Given the description of an element on the screen output the (x, y) to click on. 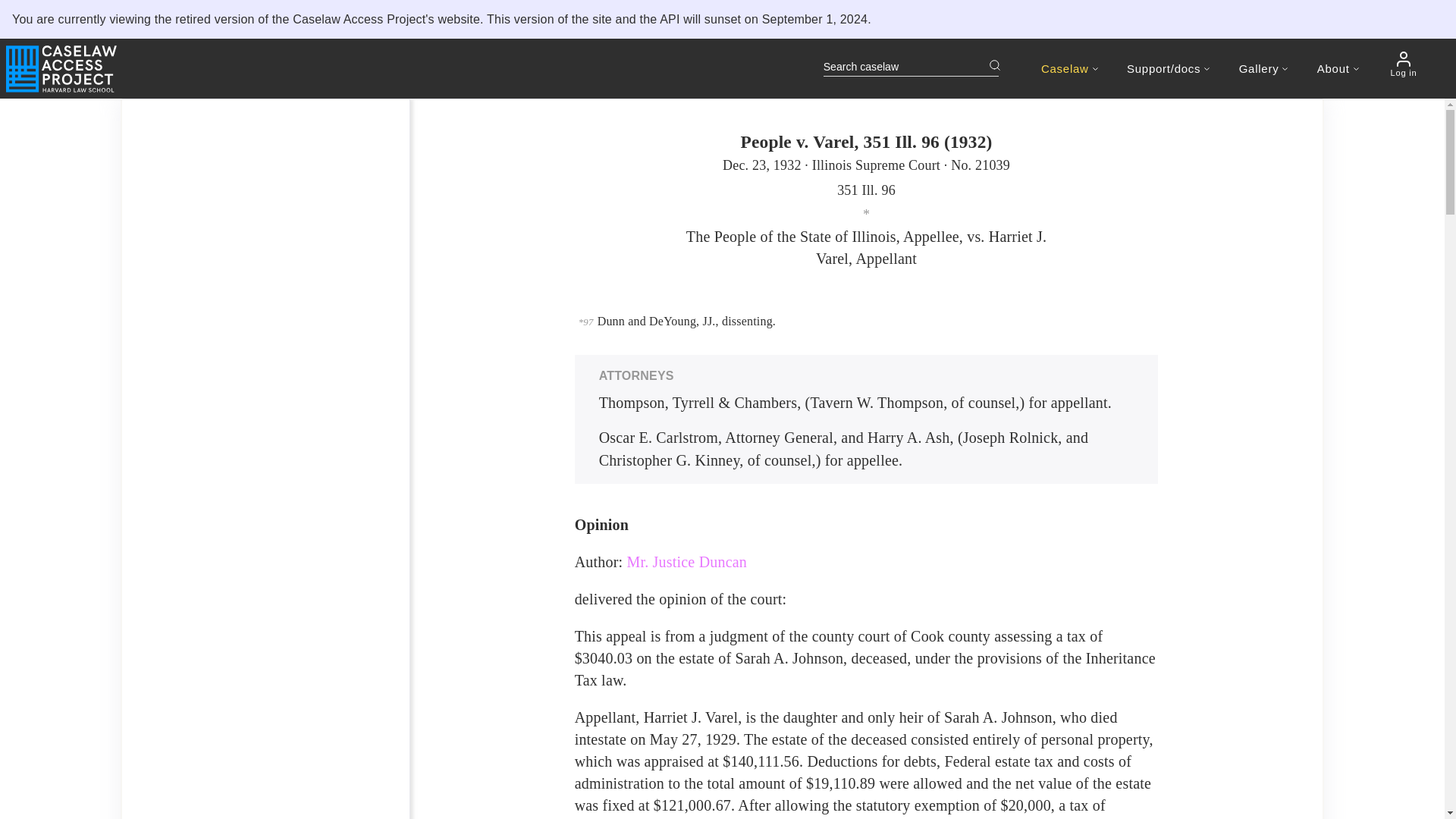
Log in (1403, 64)
Caselaw (1069, 68)
About (1338, 68)
Gallery (1263, 68)
